Given the description of an element on the screen output the (x, y) to click on. 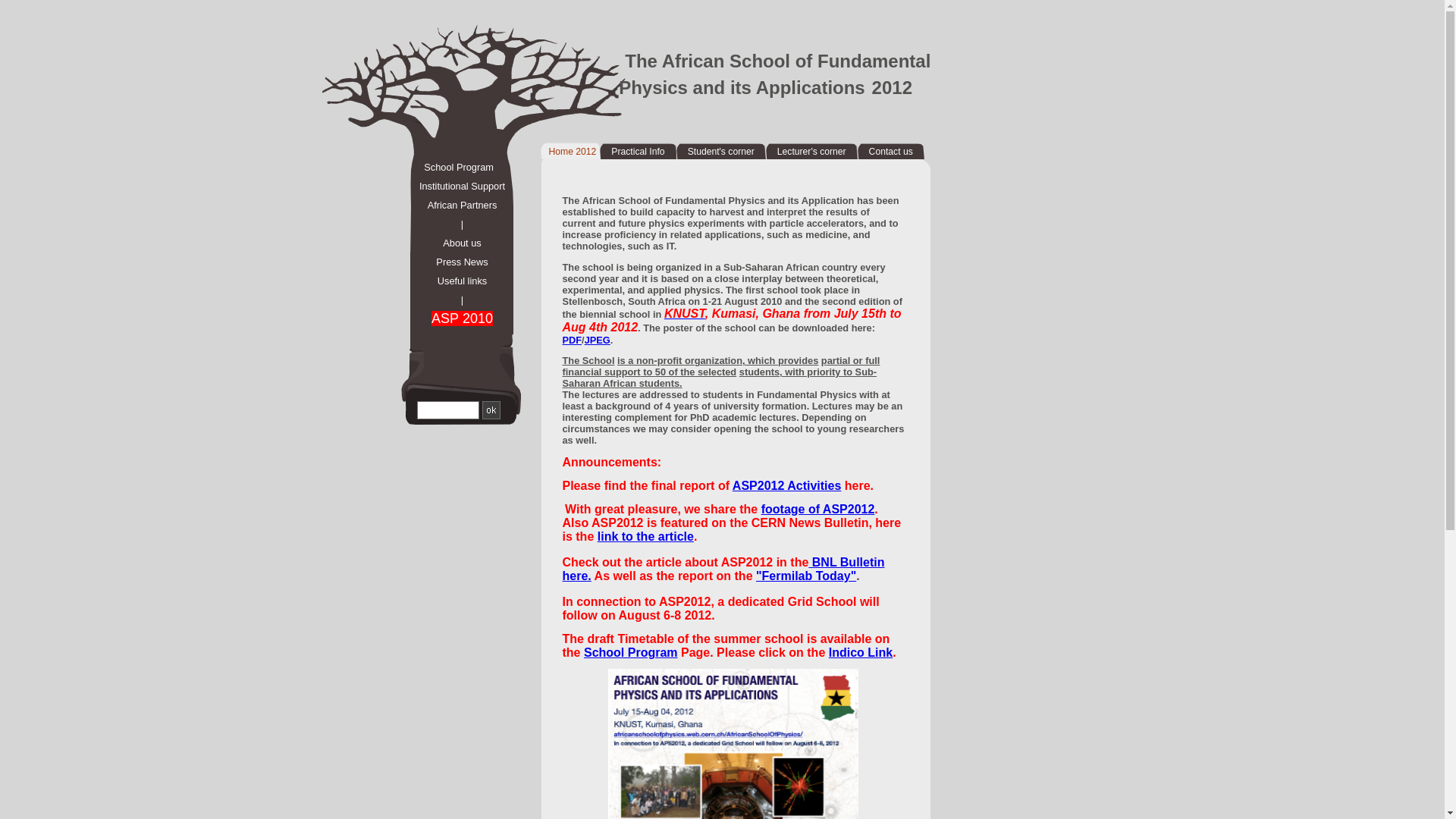
Physics and its Applications Element type: text (741, 87)
footage of ASP2012 Element type: text (818, 508)
"Fermilab Today" Element type: text (806, 575)
Student's corner Element type: text (720, 151)
| Element type: text (454, 223)
| Element type: text (454, 299)
ASP2012 Activities Element type: text (786, 485)
link to the article Element type: text (645, 536)
Contact us Element type: text (890, 151)
Indico Link Element type: text (860, 652)
Home 2012 Element type: text (571, 151)
Practical Info Element type: text (637, 151)
JPEG Element type: text (597, 339)
PDF Element type: text (572, 339)
KNUST Element type: text (684, 314)
Institutional Support Element type: text (454, 185)
Lecturer's corner Element type: text (811, 151)
BNL Bulletin here. Element type: text (723, 568)
ASP 2010 Element type: text (454, 319)
African Partners Element type: text (454, 204)
About us Element type: text (454, 242)
The African School of Fundamental Element type: text (777, 60)
School Program Element type: text (450, 166)
Useful links Element type: text (454, 280)
School Program Element type: text (630, 652)
Press News Element type: text (454, 261)
